Given the description of an element on the screen output the (x, y) to click on. 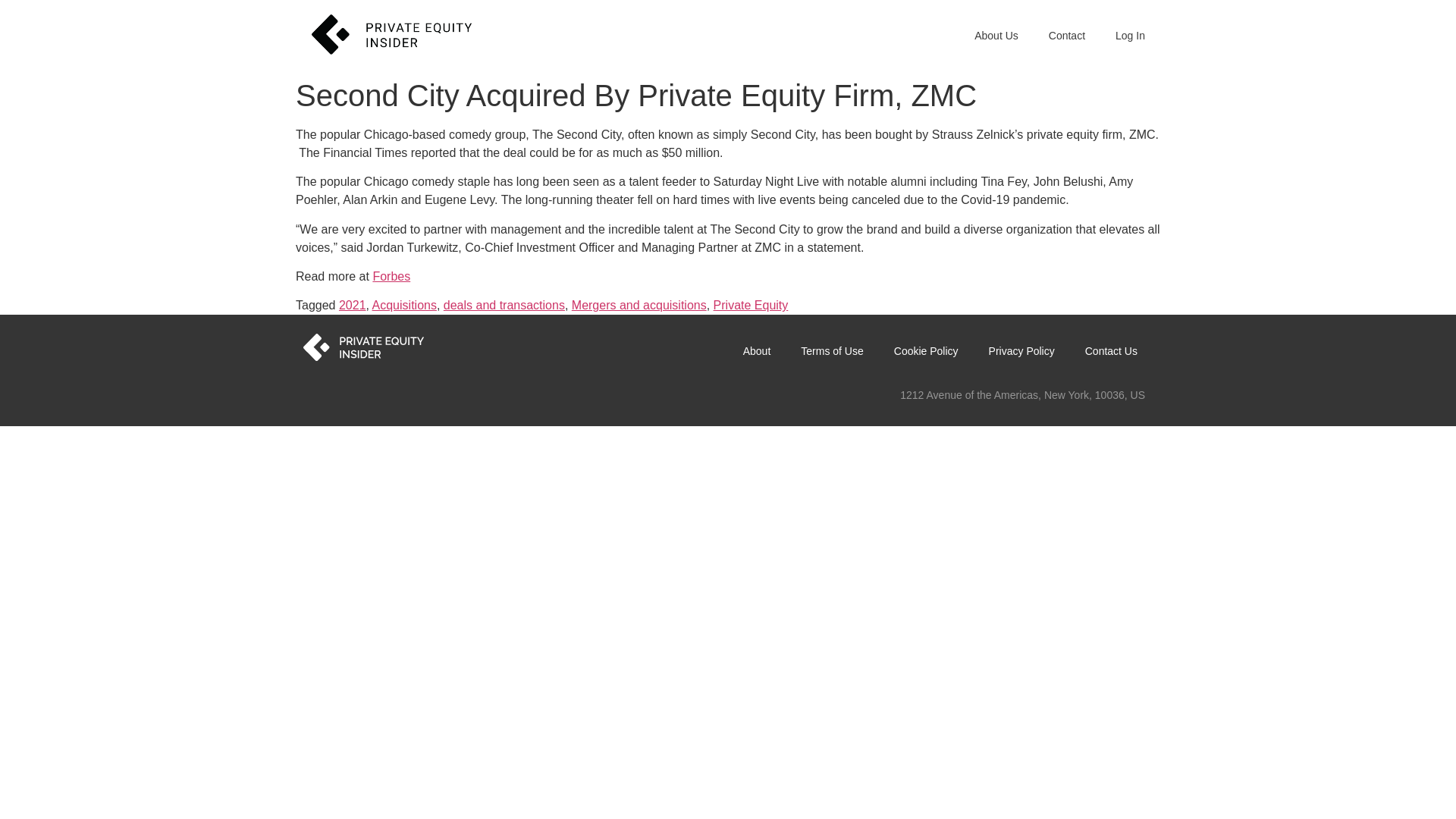
Log In (1130, 35)
2021 (352, 305)
Terms of Use (831, 350)
Cookie Policy (926, 350)
About Us (996, 35)
Private Equity (751, 305)
About (757, 350)
Forbes (391, 276)
Contact (1066, 35)
Privacy Policy (1022, 350)
Contact Us (1111, 350)
Mergers and acquisitions (639, 305)
deals and transactions (504, 305)
Acquisitions (404, 305)
